Given the description of an element on the screen output the (x, y) to click on. 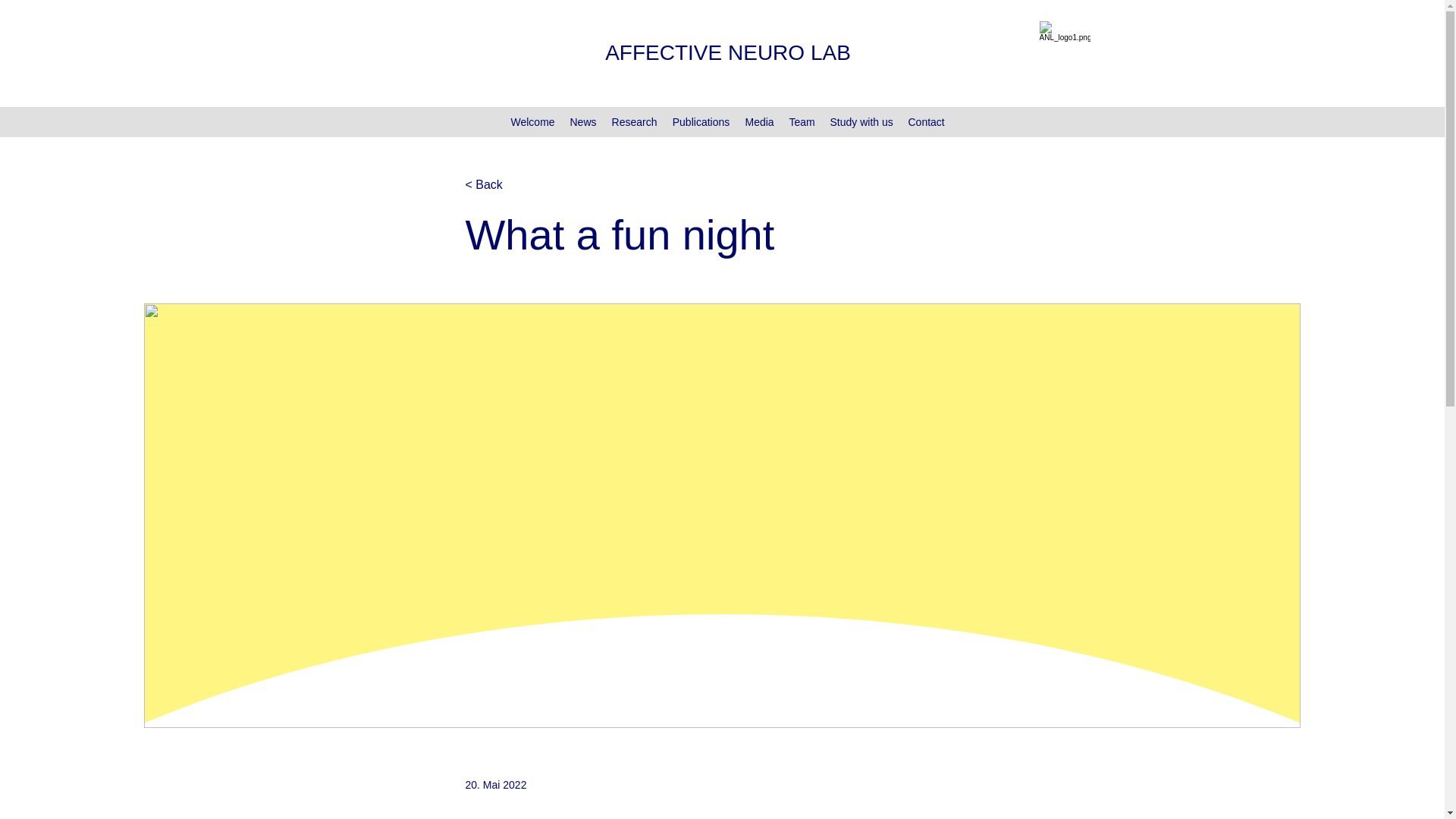
Publications (699, 121)
Media (758, 121)
Research (633, 121)
Study with us (860, 121)
News (583, 121)
AFFECTIVE NEURO LAB (727, 52)
Welcome (532, 121)
Team (801, 121)
Contact (926, 121)
